Given the description of an element on the screen output the (x, y) to click on. 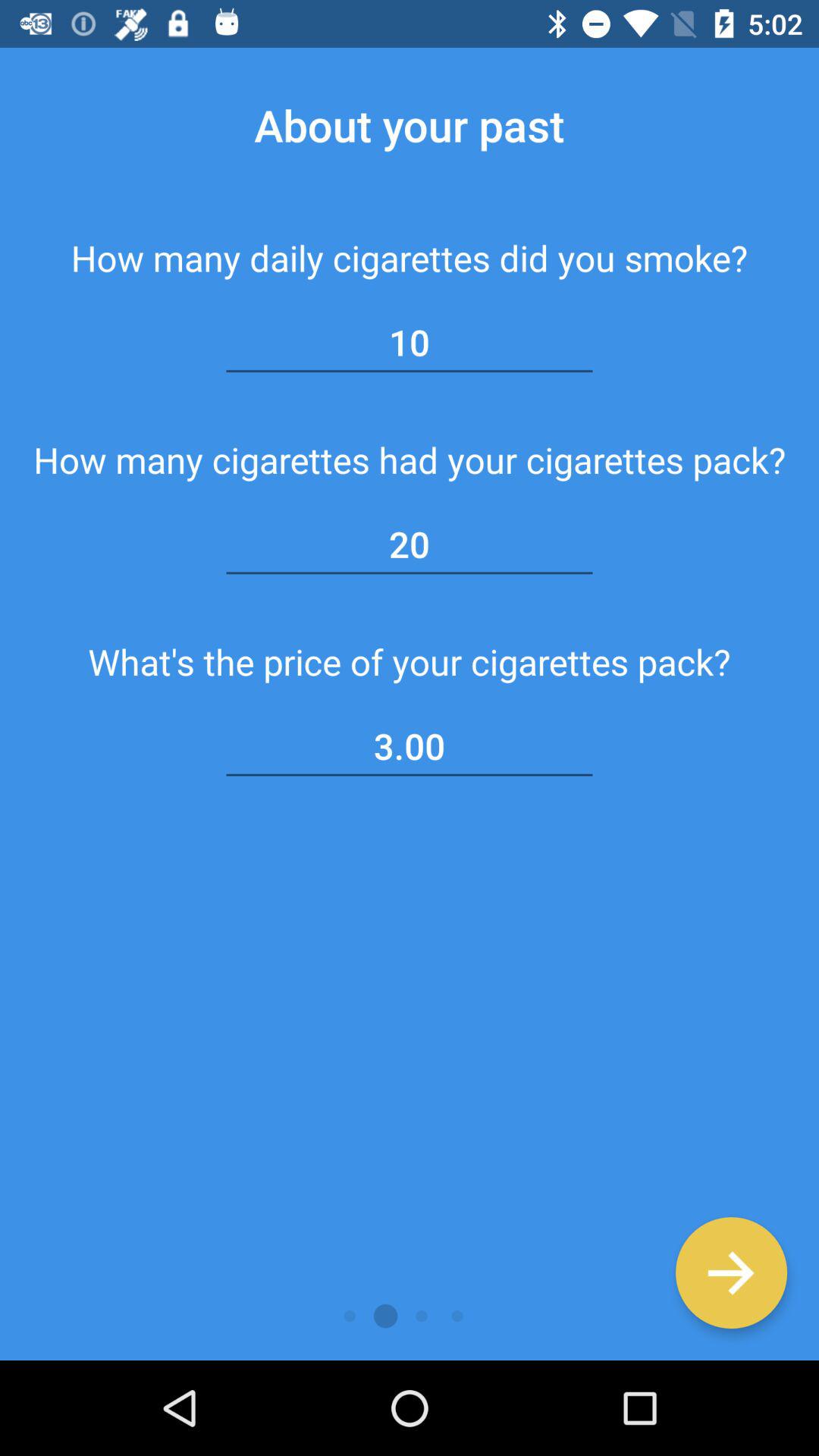
go forward (731, 1272)
